Given the description of an element on the screen output the (x, y) to click on. 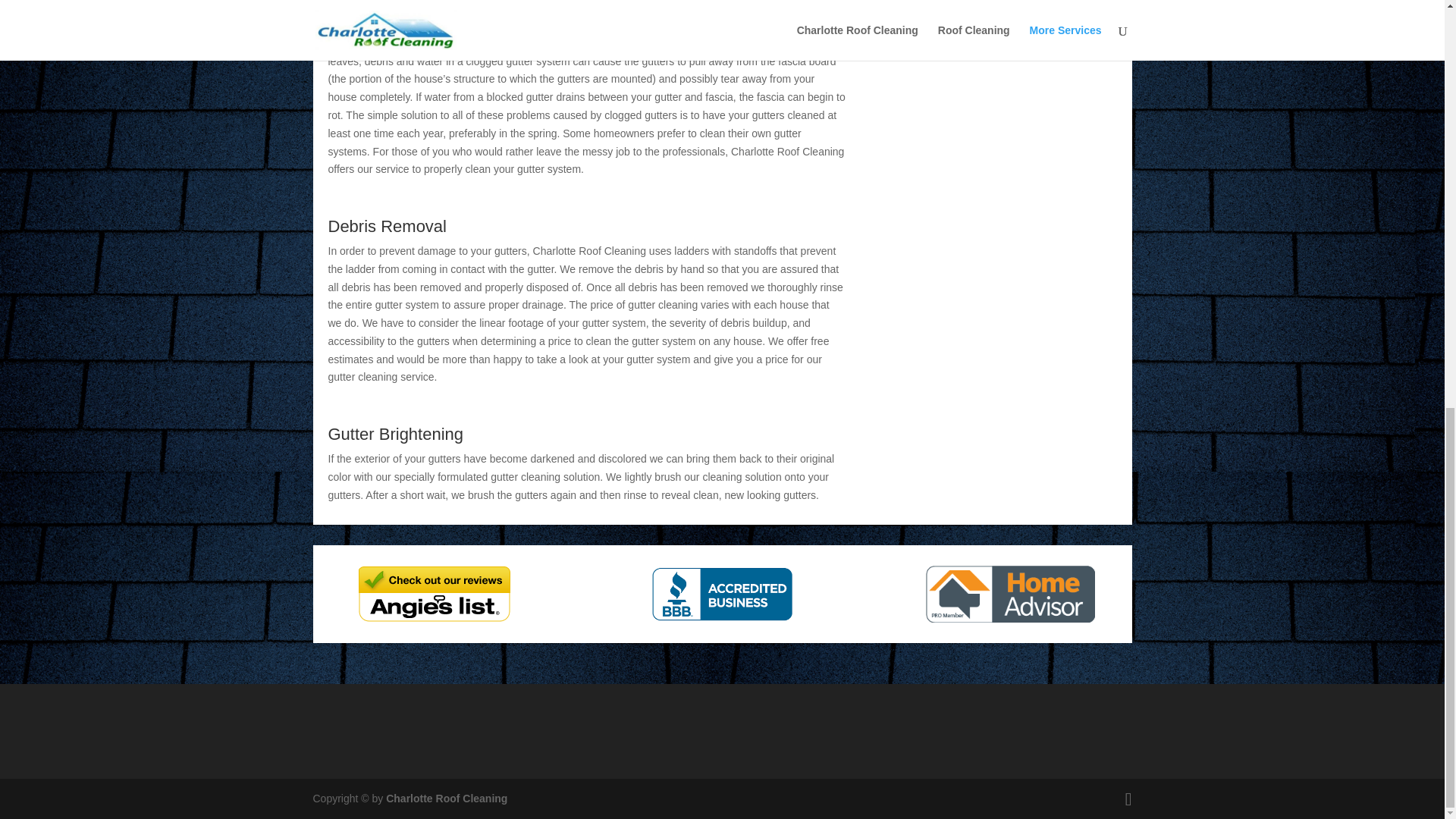
home-advisor-logo (1010, 593)
angieslist (434, 593)
bbb-logo (722, 593)
